Given the description of an element on the screen output the (x, y) to click on. 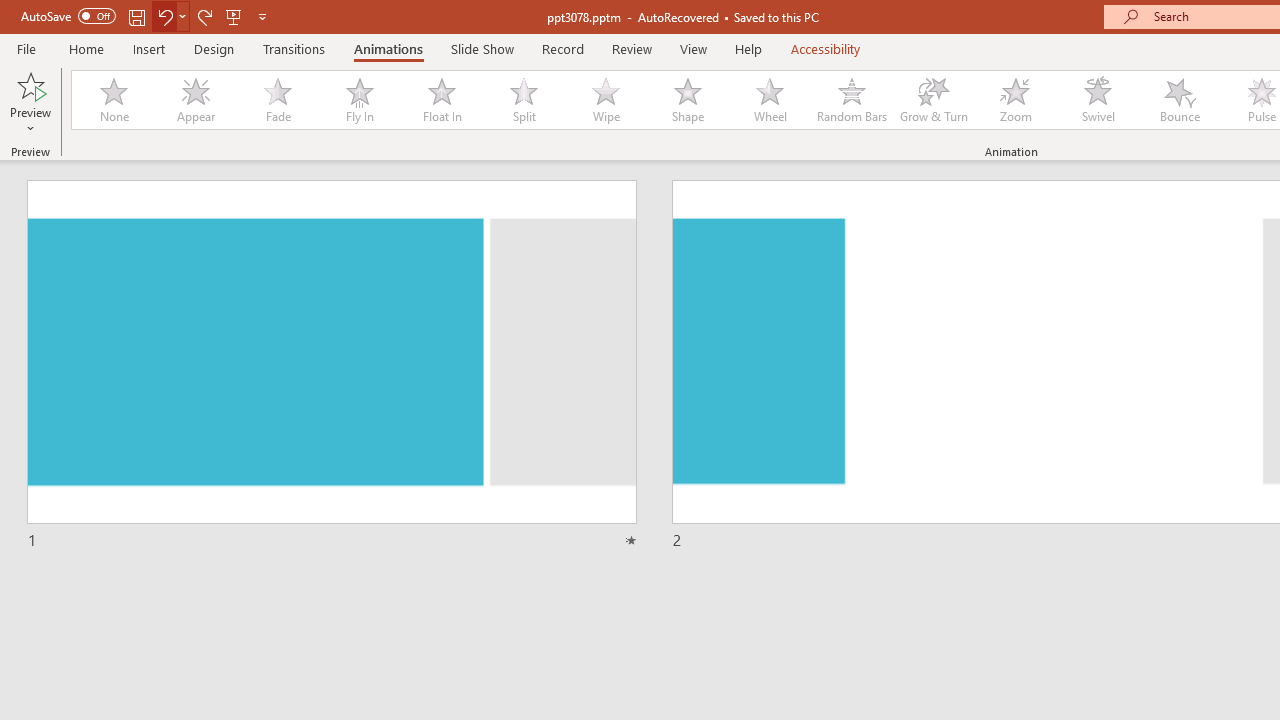
Fly In (359, 100)
